Given the description of an element on the screen output the (x, y) to click on. 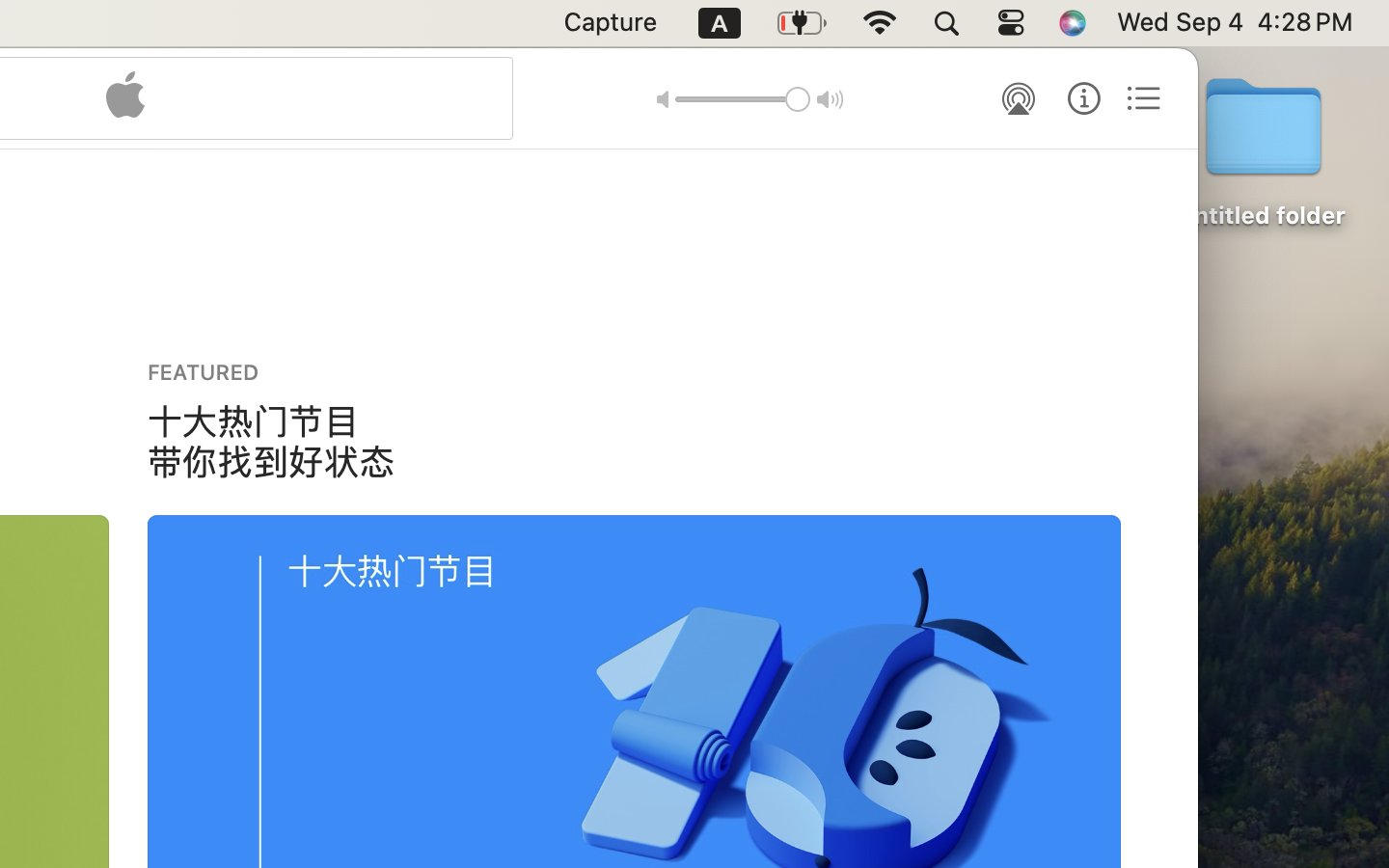
1.0 Element type: AXSlider (742, 98)
